Given the description of an element on the screen output the (x, y) to click on. 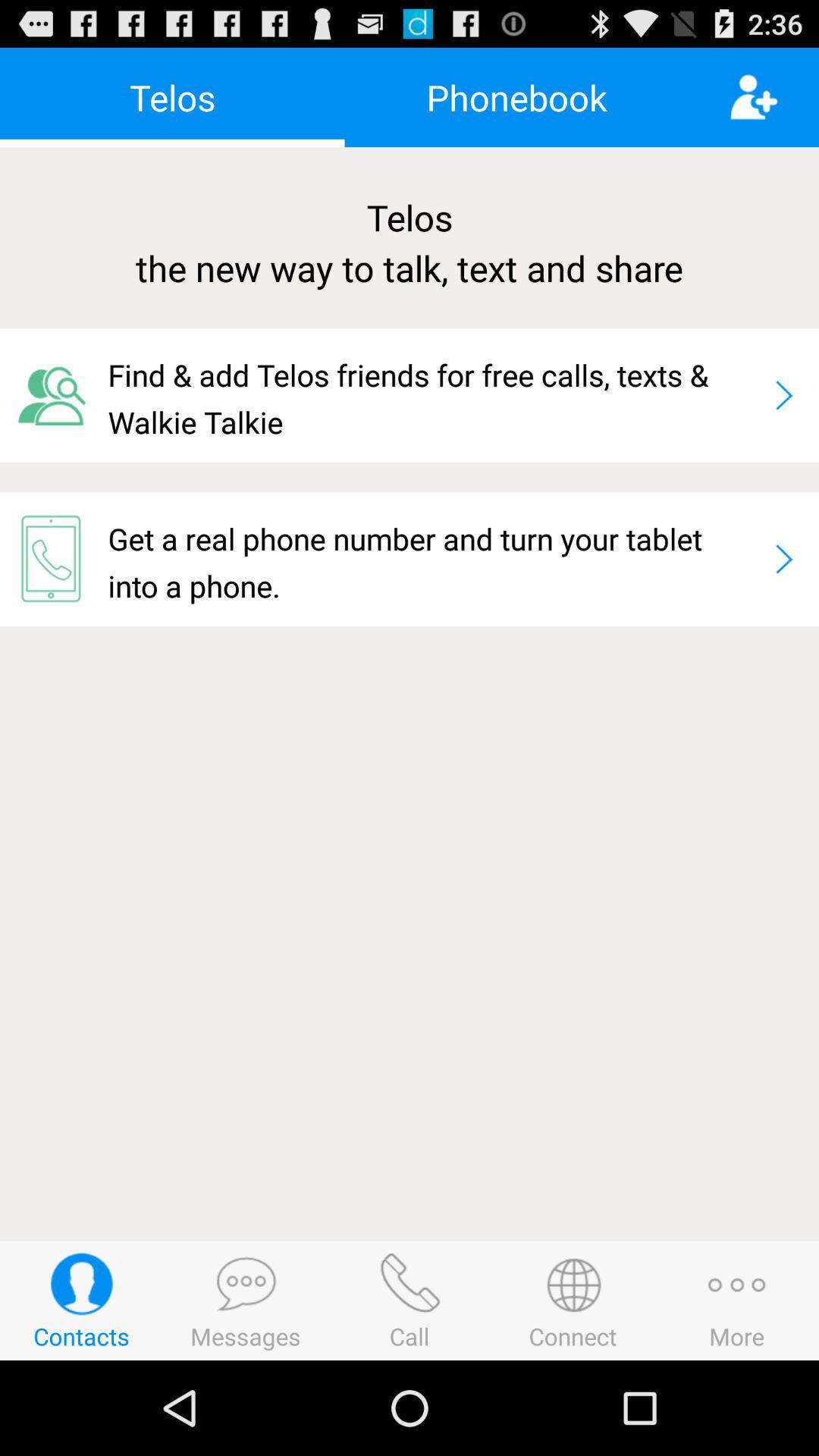
turn on phonebook (516, 97)
